Given the description of an element on the screen output the (x, y) to click on. 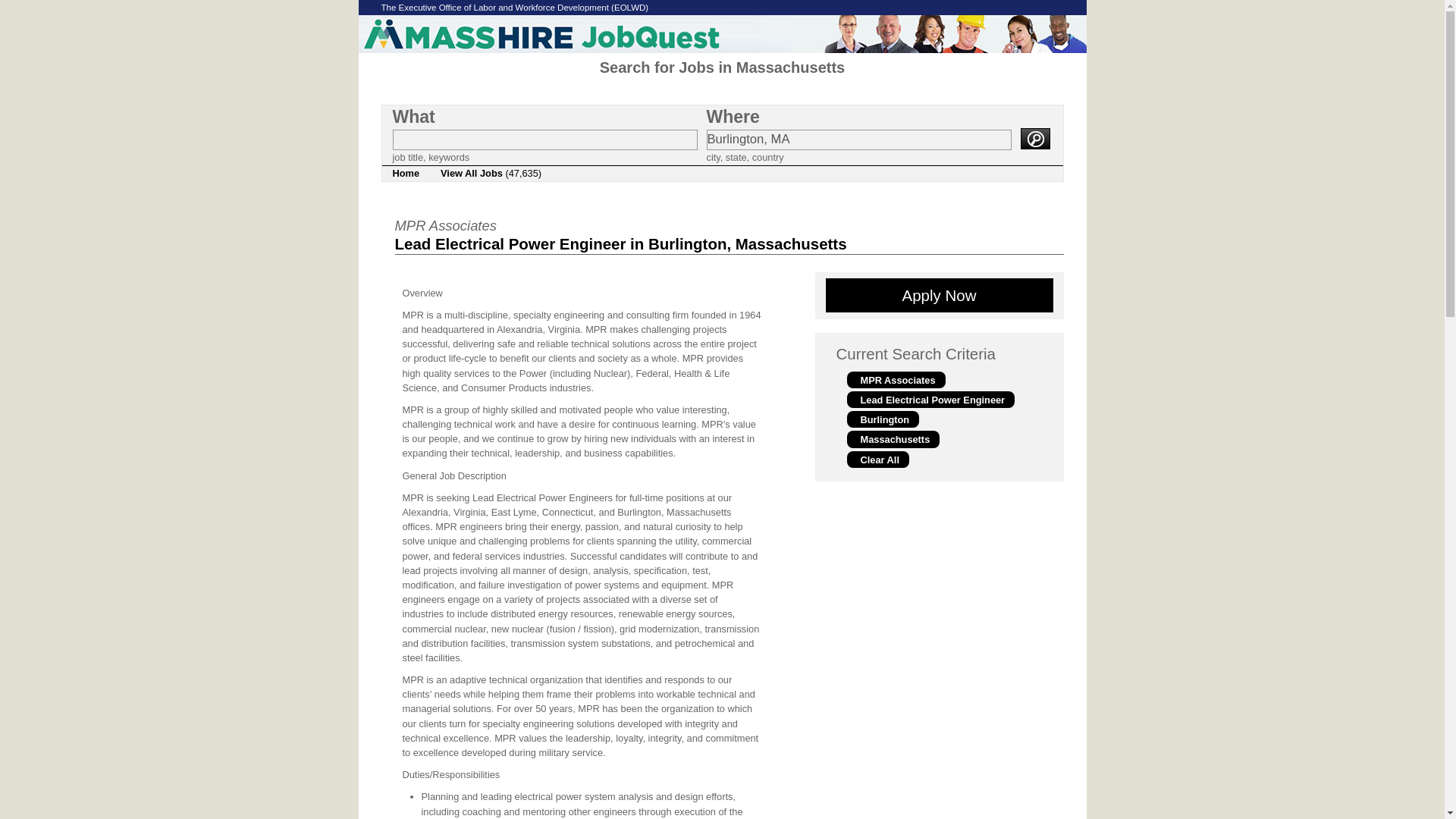
Remove Massachusetts (892, 438)
Burlington (881, 419)
Remove MPR Associates (894, 379)
Search Location (858, 139)
Lead Electrical Power Engineer (929, 399)
Clear All (876, 458)
Remove Lead Electrical Power Engineer (929, 399)
search (1034, 138)
MPR Associates (894, 379)
Massachusetts (892, 438)
Search Phrase (545, 139)
Clear All (876, 458)
search (1034, 138)
Remove Burlington (881, 419)
Home (405, 173)
